Given the description of an element on the screen output the (x, y) to click on. 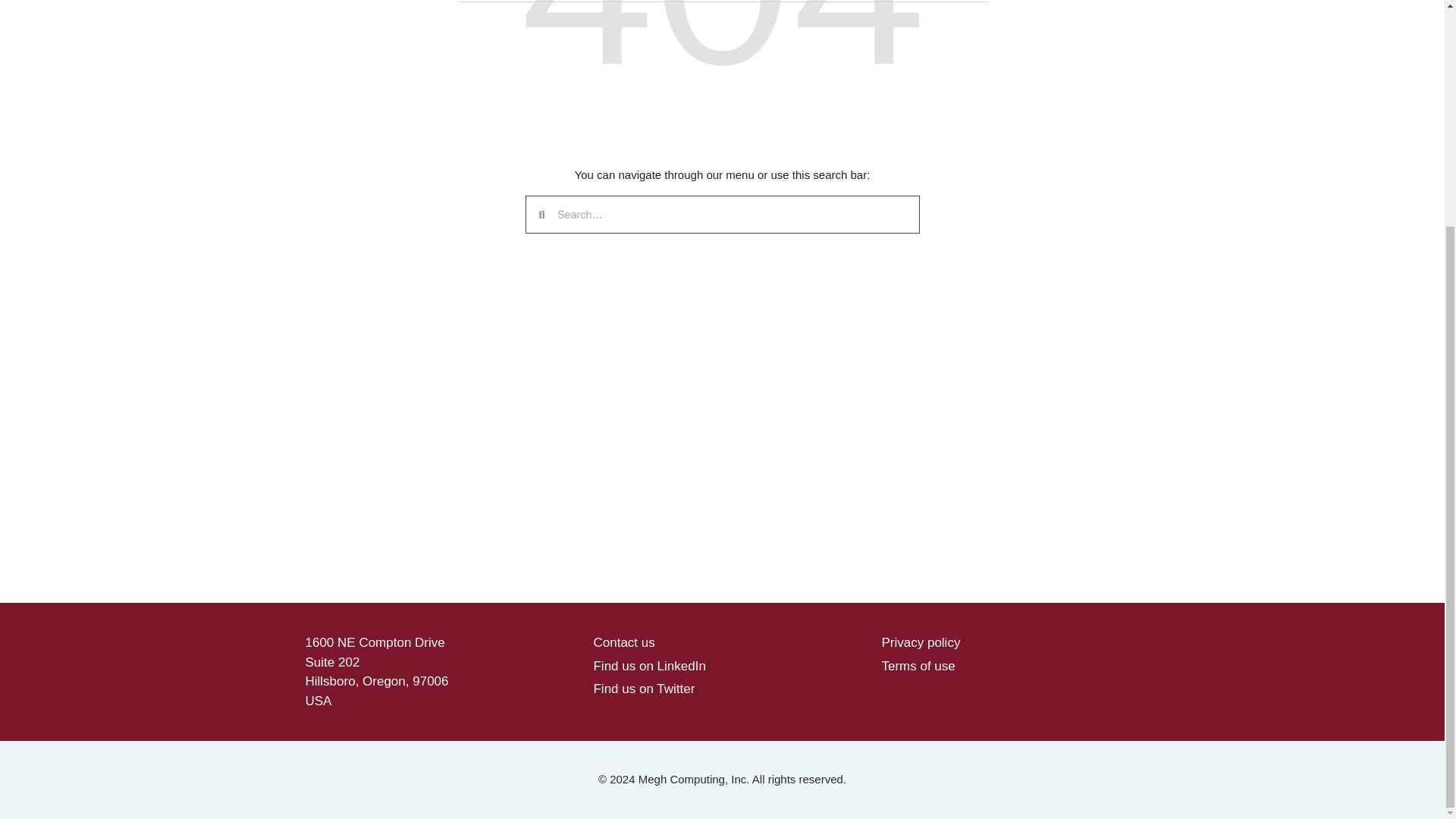
Terms of use (917, 665)
Find us on Twitter (643, 688)
Privacy policy (919, 642)
Contact us (622, 642)
Find us on LinkedIn (648, 665)
